Given the description of an element on the screen output the (x, y) to click on. 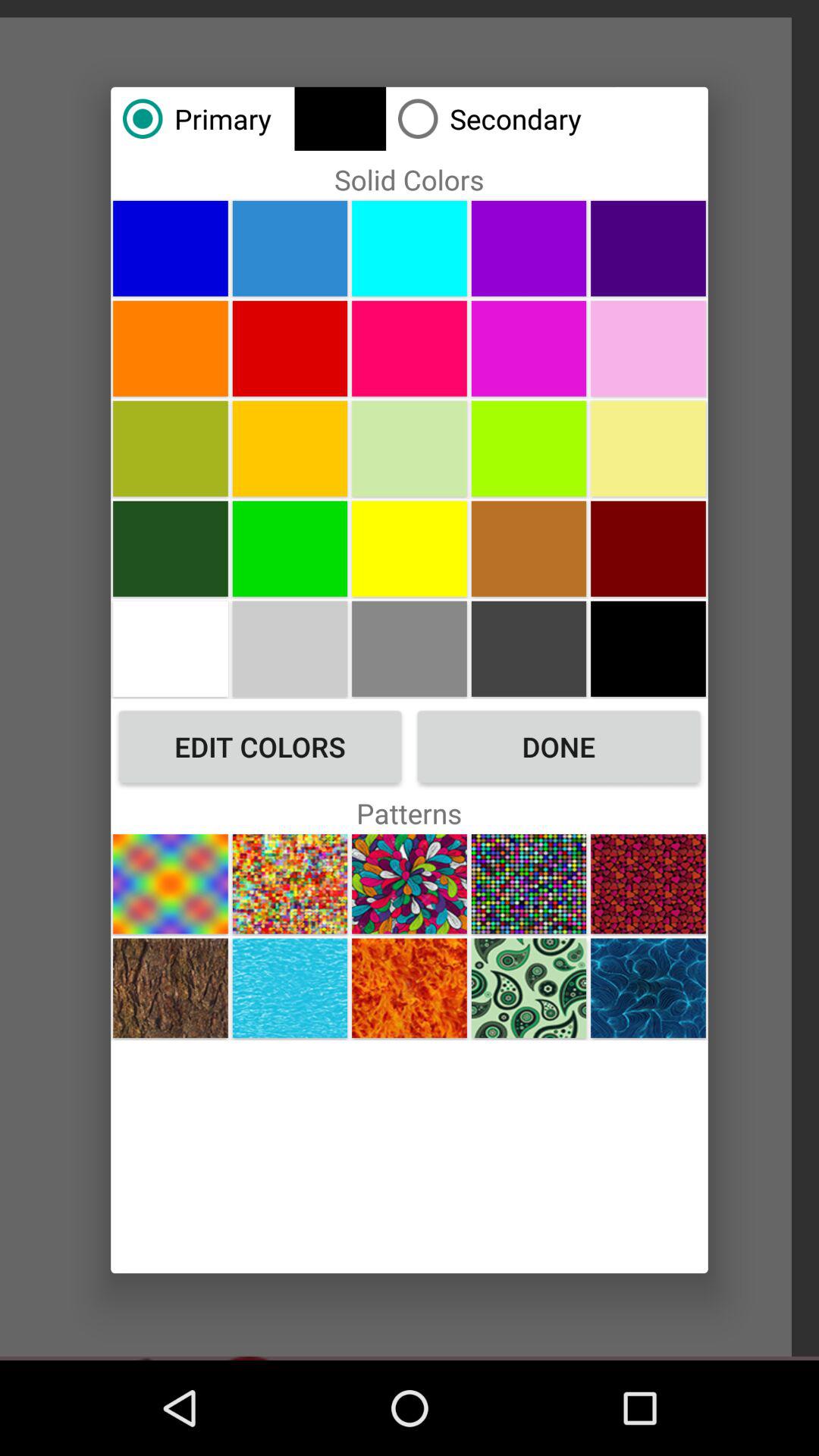
select the color black (647, 648)
